Given the description of an element on the screen output the (x, y) to click on. 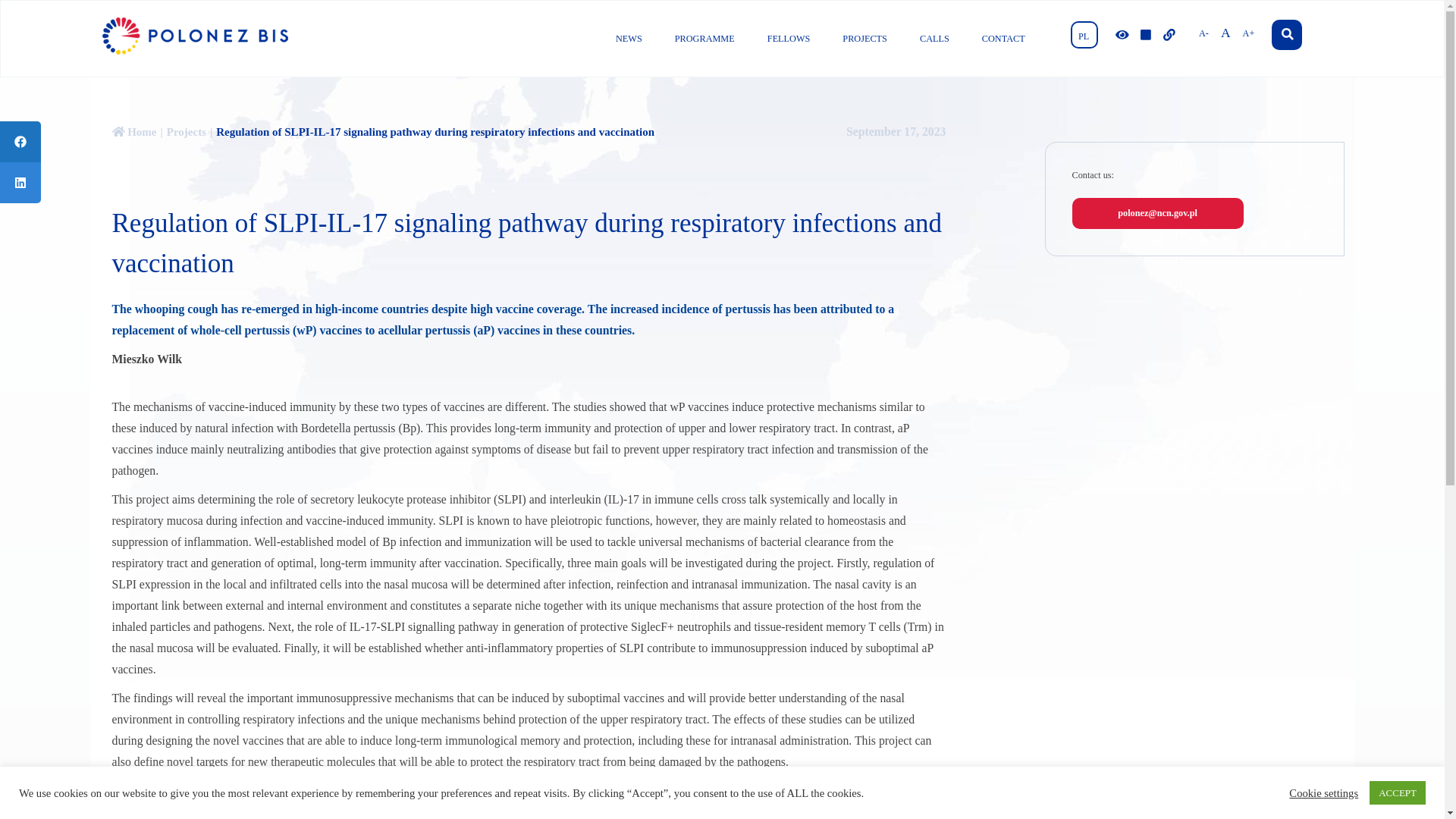
big font (1248, 31)
Search (1286, 34)
PROJECTS (864, 38)
FELLOWS (788, 38)
contrast (1122, 35)
PL (1083, 34)
small font (1203, 31)
PROGRAMME (704, 38)
CONTACT (1003, 38)
A- (1203, 31)
POLSKI (1083, 34)
underline (1168, 35)
